Given the description of an element on the screen output the (x, y) to click on. 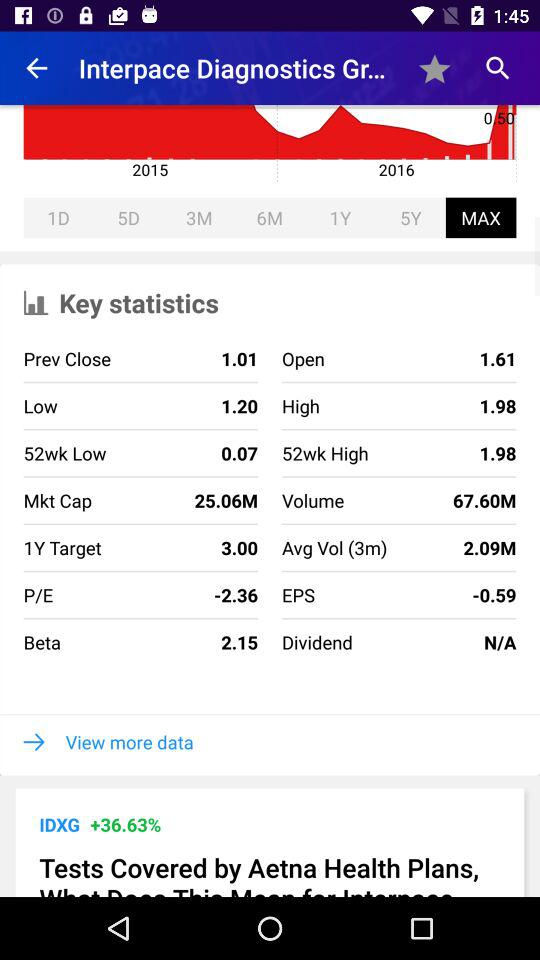
choose item to the left of the interpace diagnostics group item (36, 68)
